Given the description of an element on the screen output the (x, y) to click on. 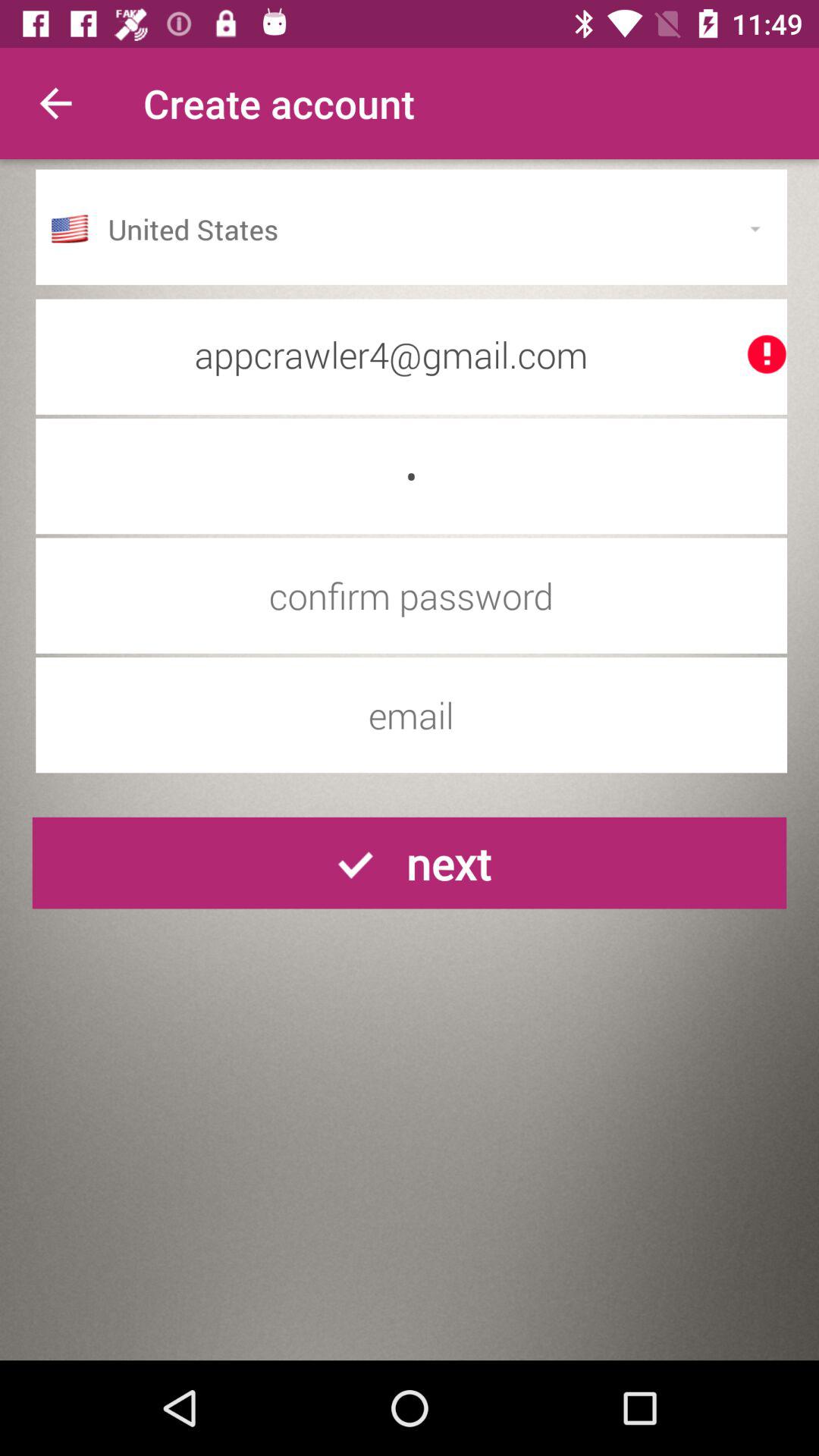
input account email (411, 715)
